Given the description of an element on the screen output the (x, y) to click on. 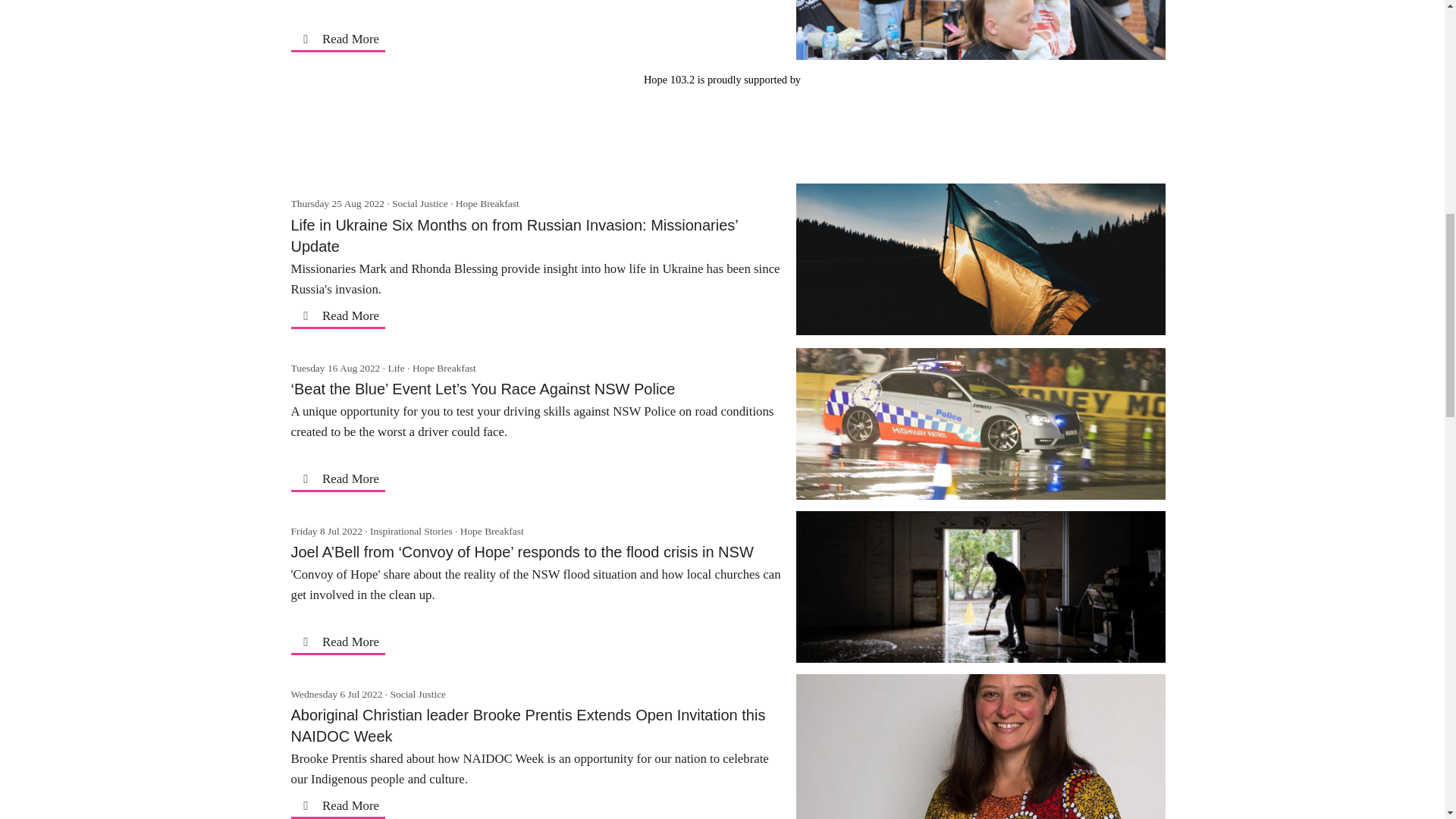
3rd party ad content (721, 122)
